Given the description of an element on the screen output the (x, y) to click on. 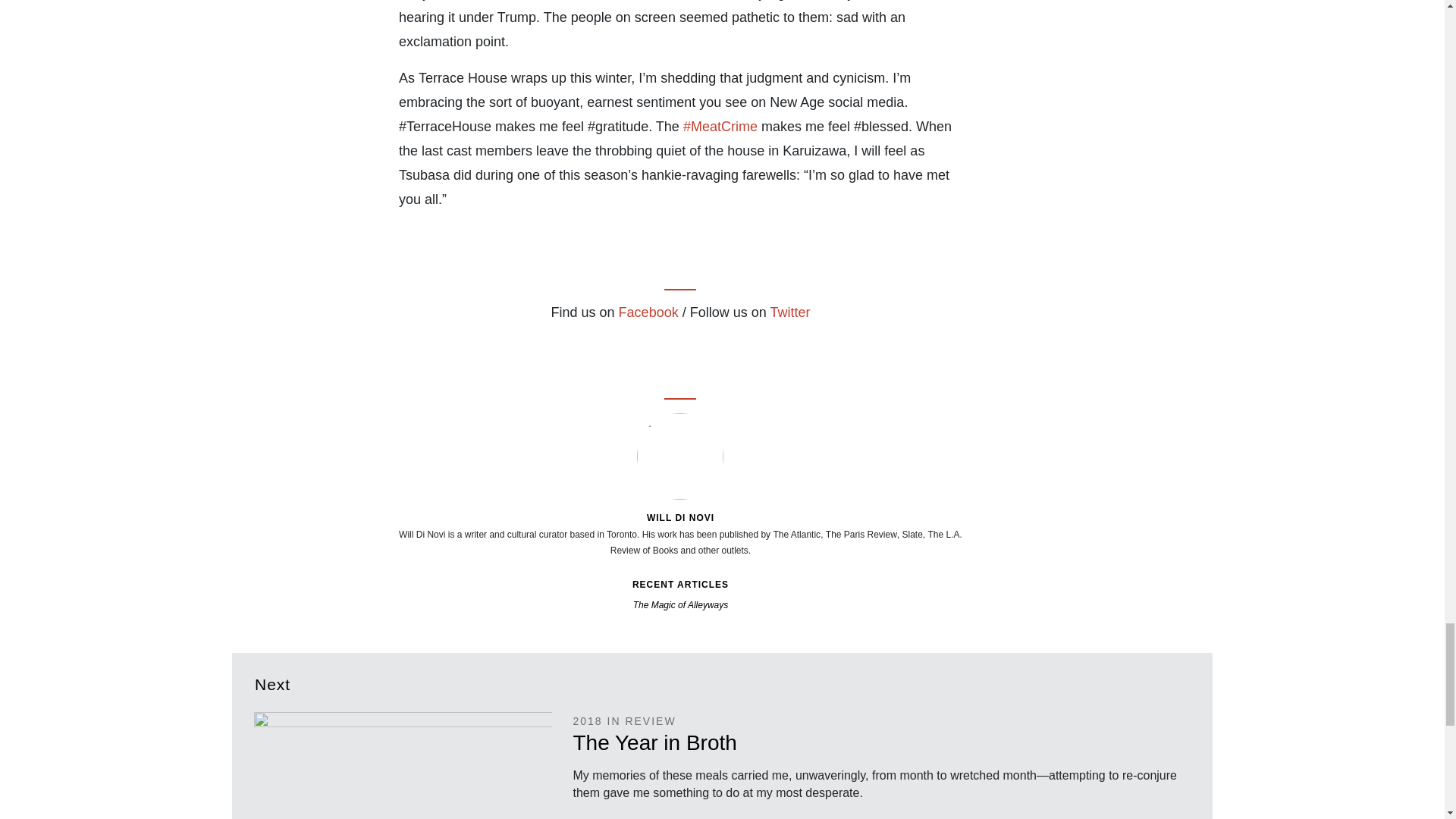
Twitter (789, 312)
Facebook (648, 312)
Twitter (678, 345)
Facebook (652, 345)
LinkedIn (704, 345)
